Given the description of an element on the screen output the (x, y) to click on. 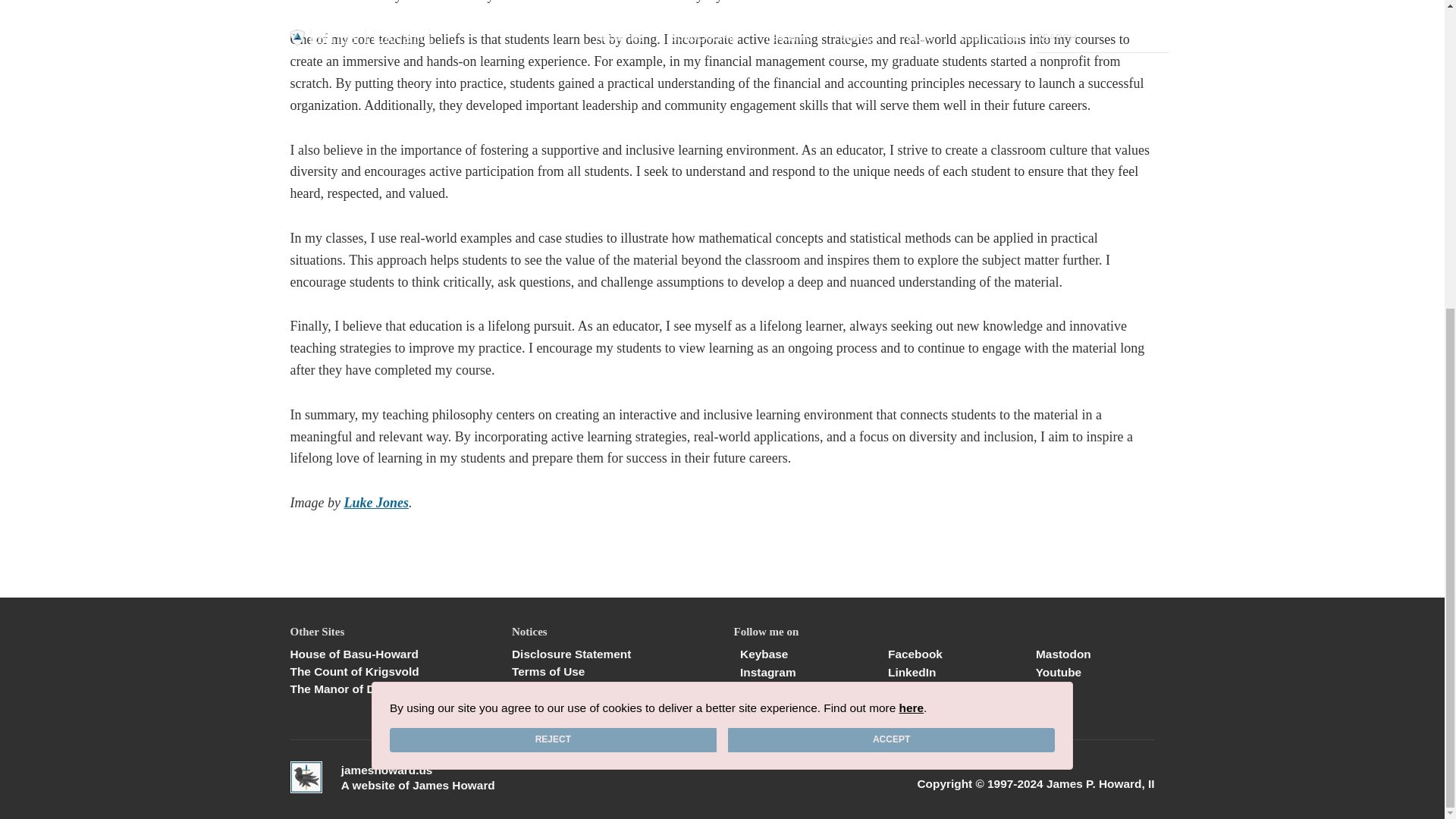
House of Basu-Howard (389, 654)
  Keybase (761, 653)
here (911, 219)
  LinkedIn (908, 671)
  Youtube (1055, 671)
  ORCiD (1051, 689)
Privacy Policy (611, 688)
The Count of Krigsvold (389, 671)
  Amazon (906, 689)
Luke Jones (376, 502)
